Given the description of an element on the screen output the (x, y) to click on. 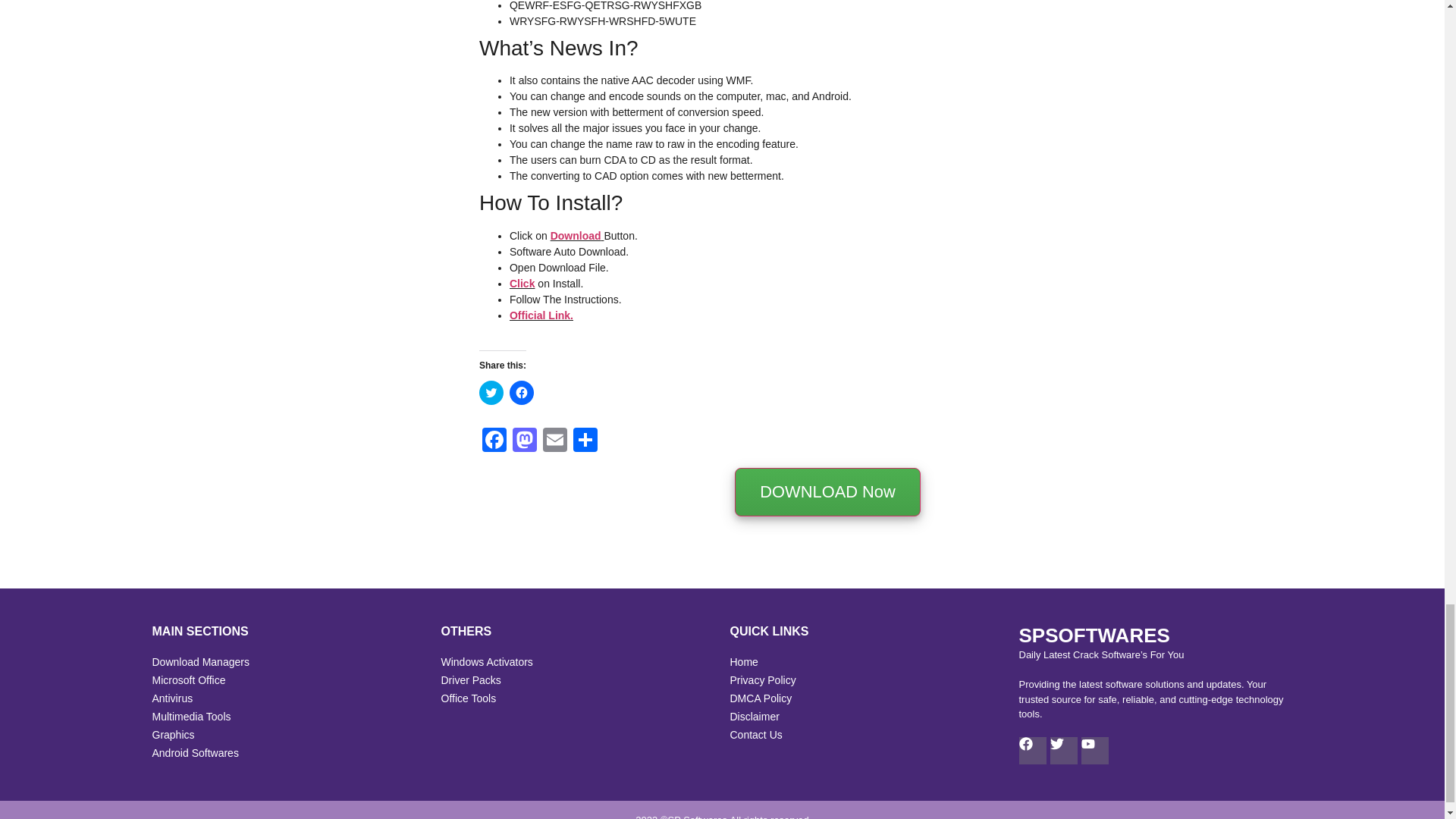
Mastodon (524, 441)
Click to share on Twitter (491, 392)
Click to share on Facebook (521, 392)
Facebook (494, 441)
